Given the description of an element on the screen output the (x, y) to click on. 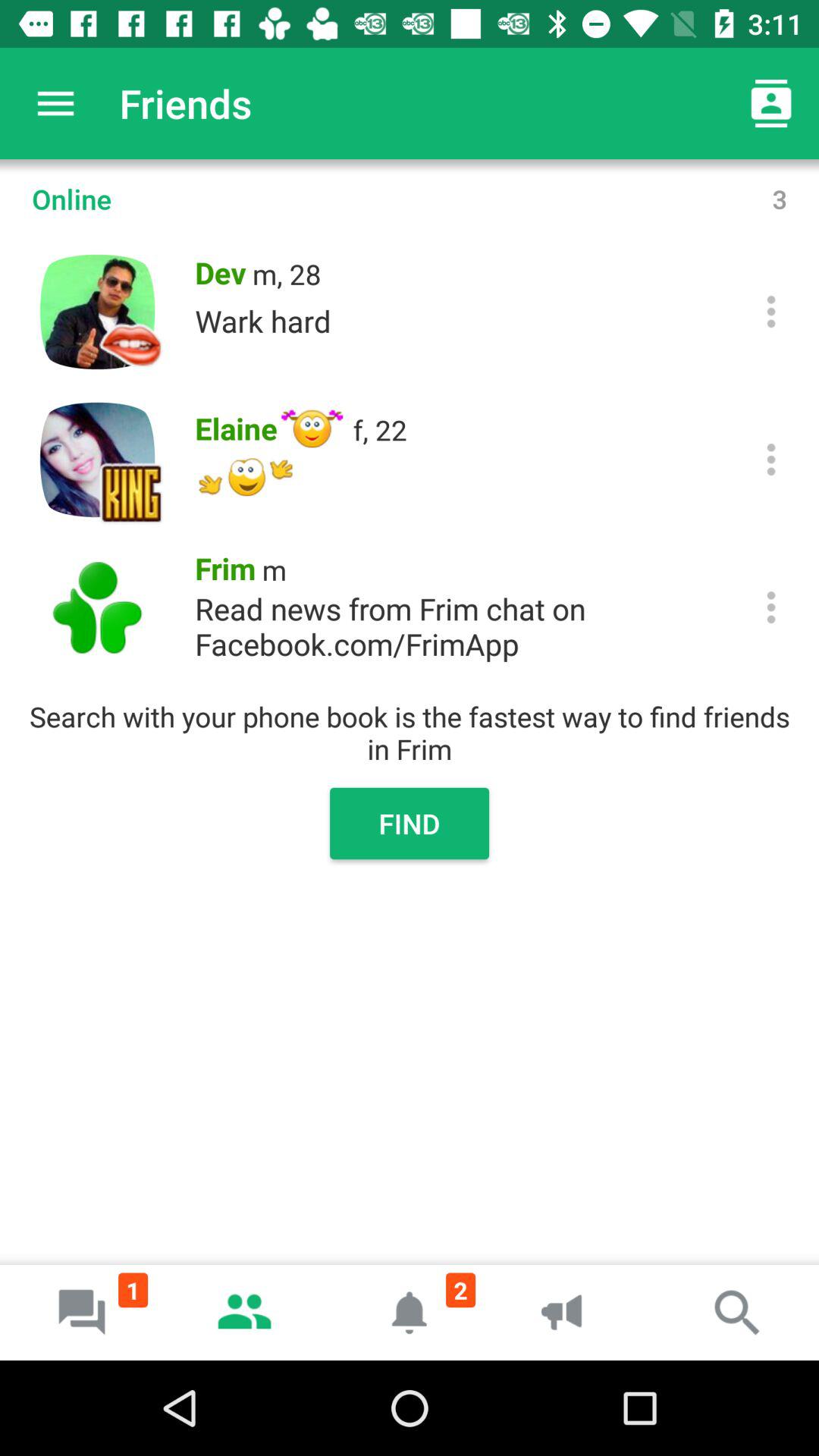
open up options (771, 311)
